Given the description of an element on the screen output the (x, y) to click on. 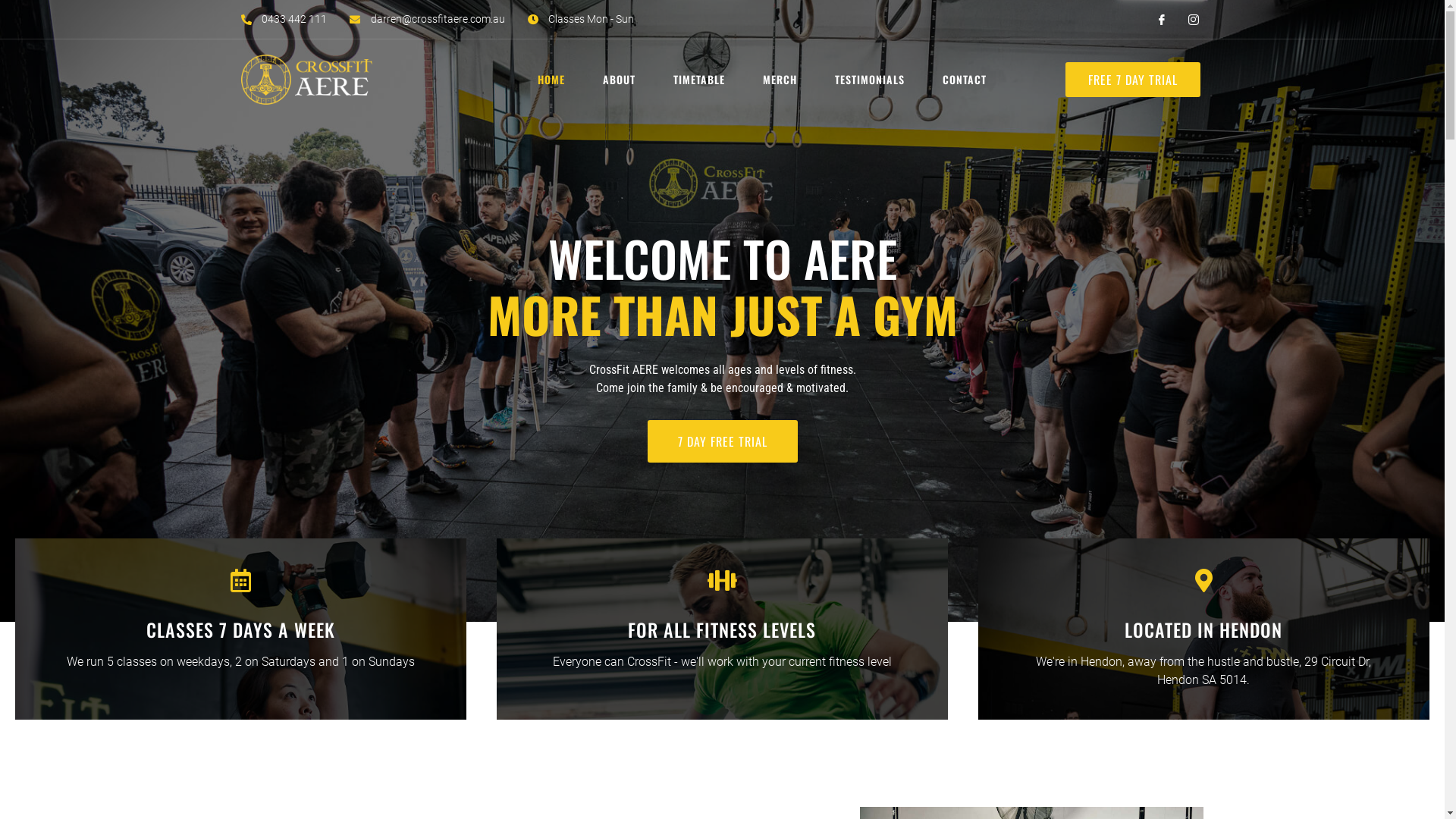
FREE 7 DAY TRIAL Element type: text (1132, 79)
ABOUT Element type: text (622, 79)
TIMETABLE Element type: text (702, 79)
TESTIMONIALS Element type: text (873, 79)
MERCH Element type: text (783, 79)
HOME Element type: text (554, 79)
7 DAY FREE TRIAL Element type: text (722, 441)
CONTACT Element type: text (968, 79)
